Given the description of an element on the screen output the (x, y) to click on. 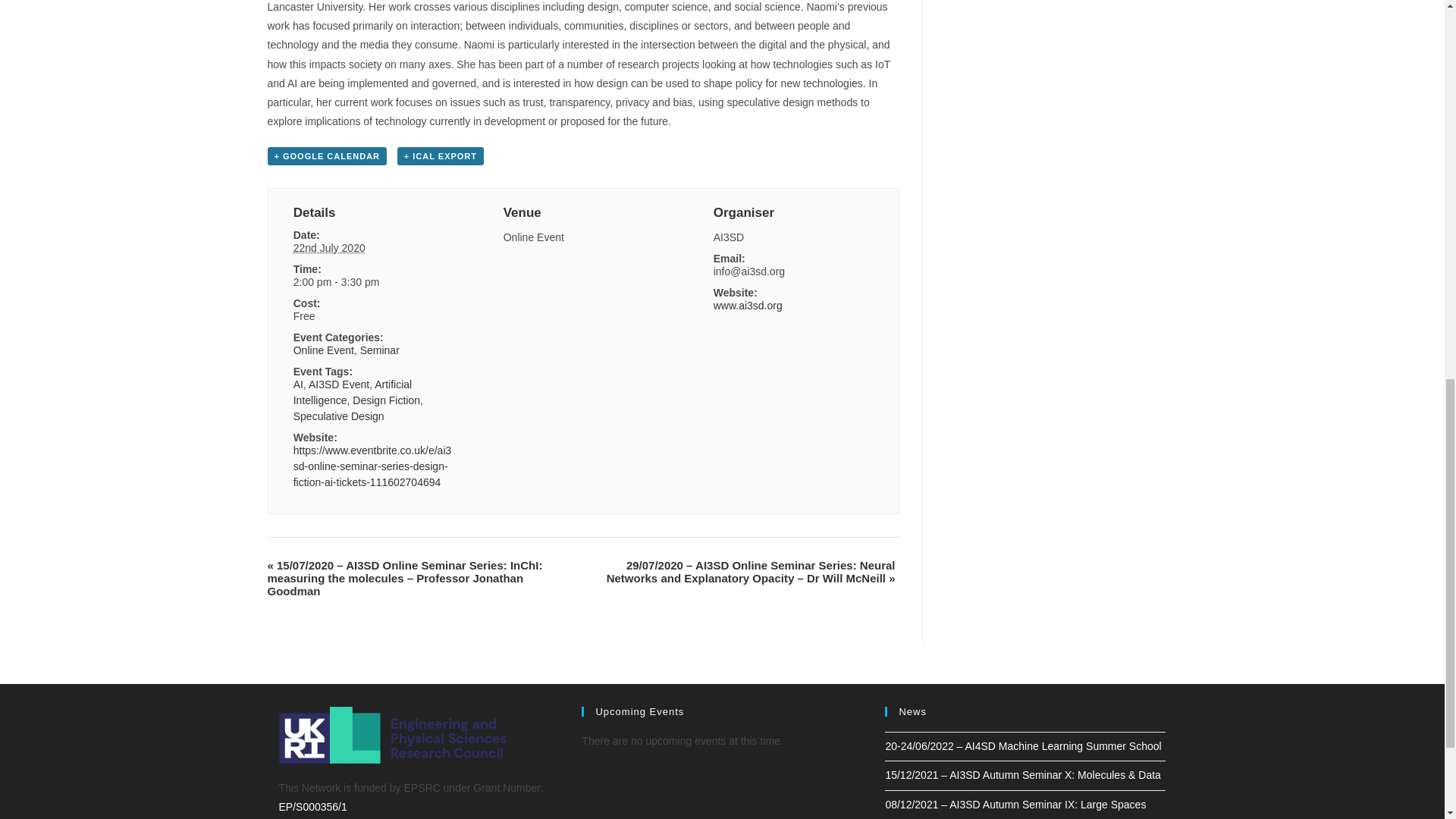
2020-07-22 (329, 247)
Download .ics file (440, 156)
Add to Google Calendar (326, 156)
2020-07-22 (373, 282)
